Given the description of an element on the screen output the (x, y) to click on. 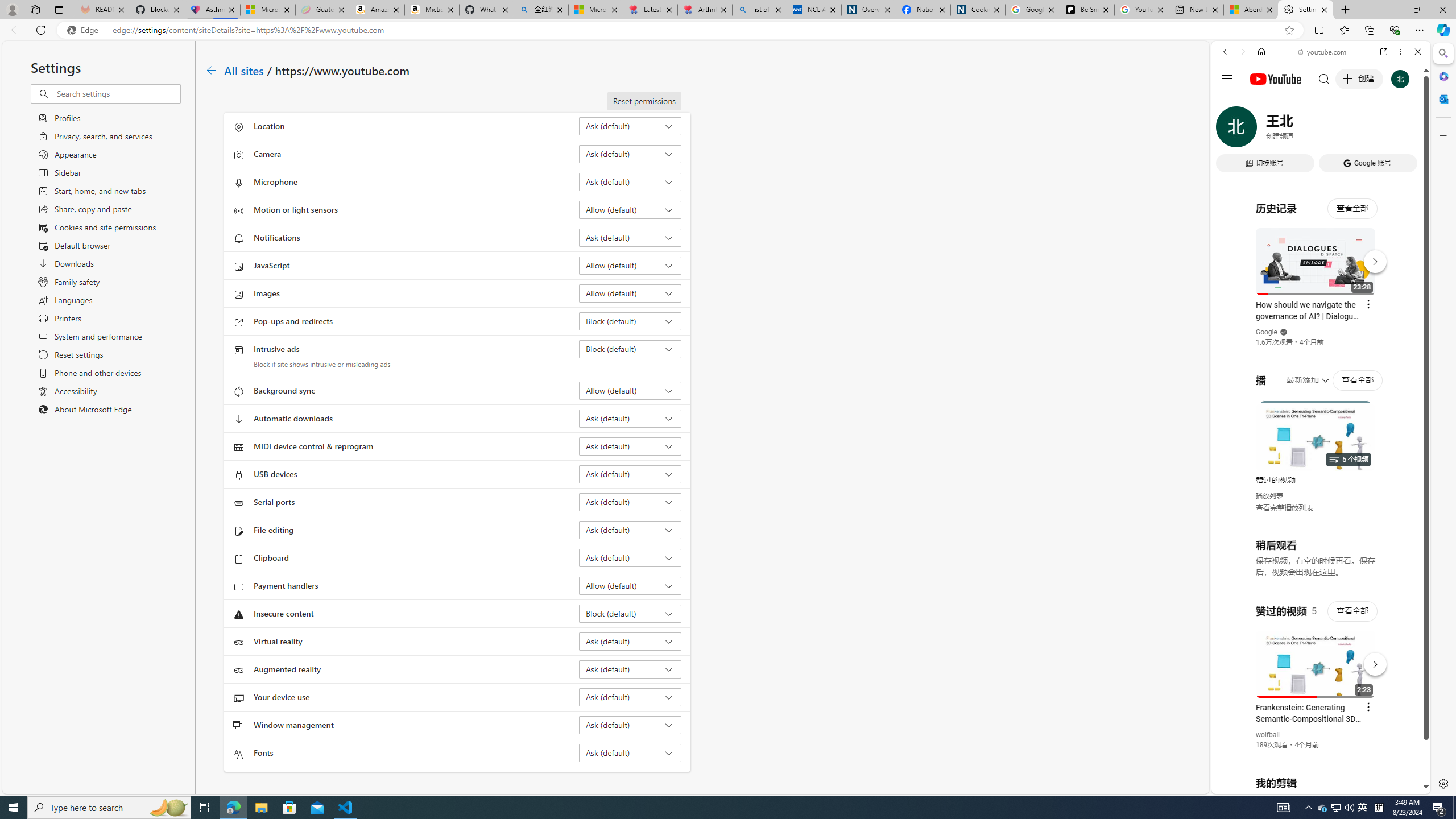
Go back to All sites page. (210, 70)
Trailer #2 [HD] (1320, 336)
Camera Ask (default) (630, 153)
Clipboard Ask (default) (630, 557)
Class: b_serphb (1404, 130)
Window management Ask (default) (630, 724)
Actions for this site (1371, 661)
